Given the description of an element on the screen output the (x, y) to click on. 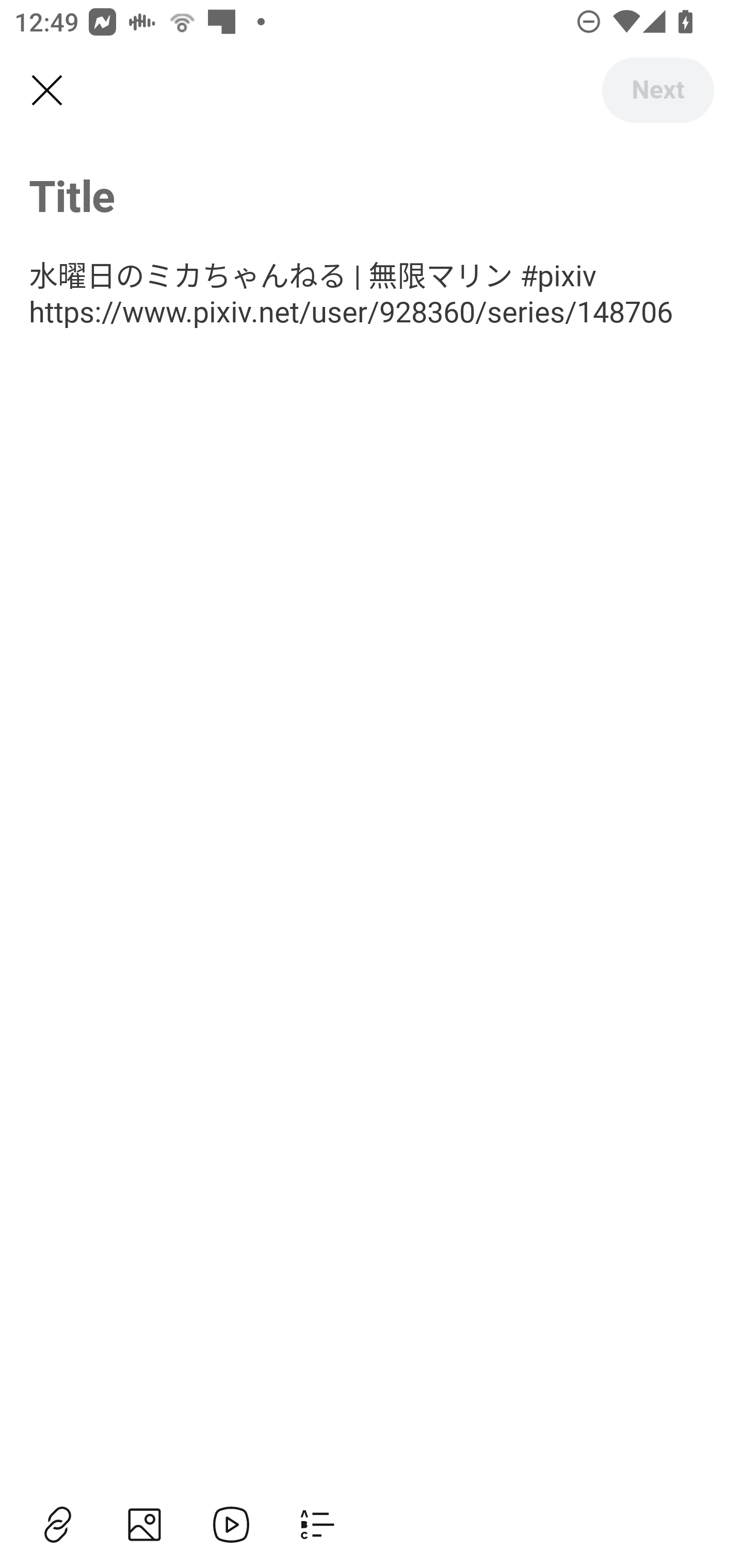
Close (46, 90)
Next (657, 90)
Post title (371, 195)
